Given the description of an element on the screen output the (x, y) to click on. 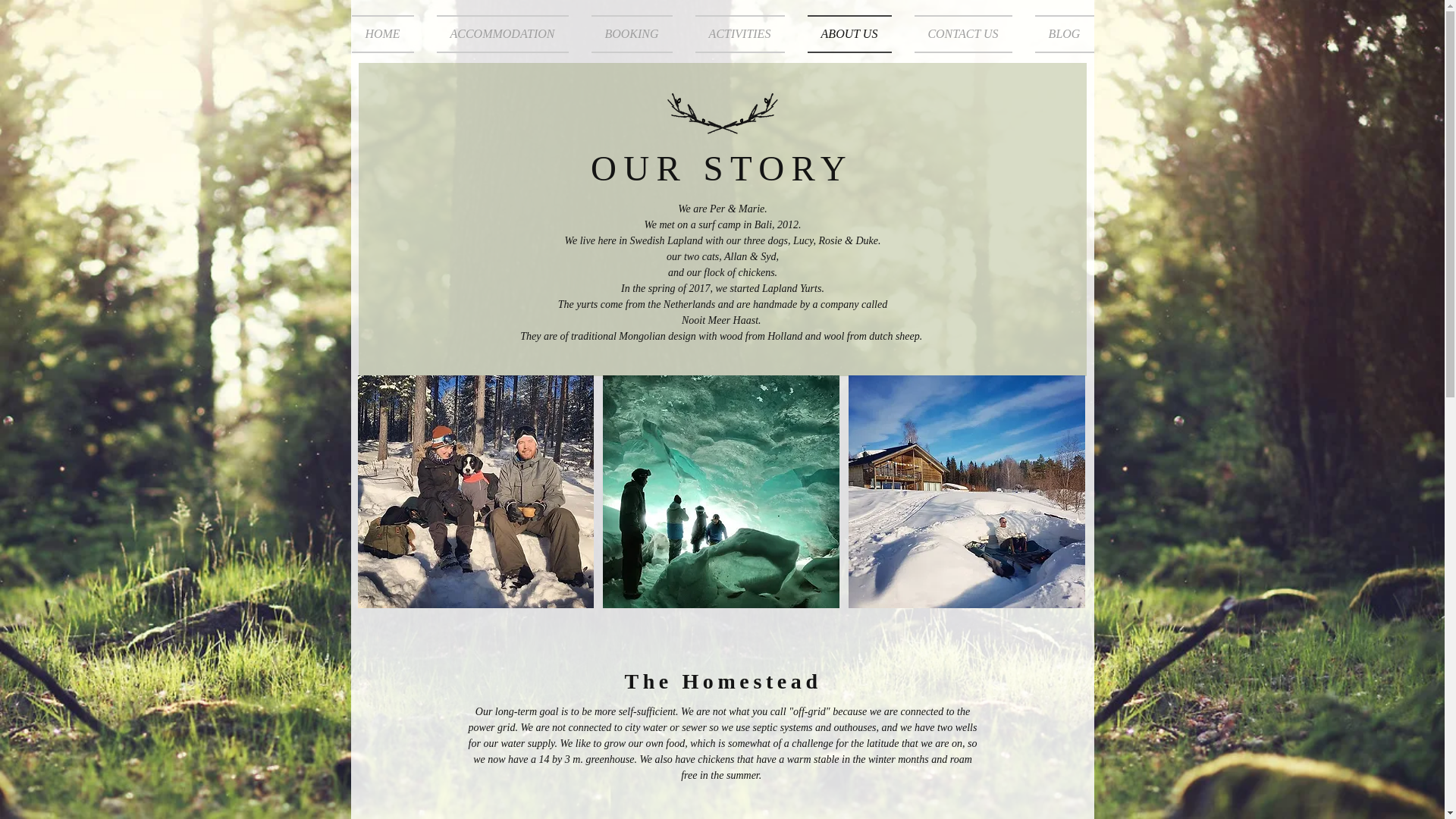
ACCOMMODATION (502, 34)
BLOG (1058, 34)
CONTACT US (962, 34)
ACTIVITIES (740, 34)
HOME (388, 34)
ABOUT US (849, 34)
BOOKING (630, 34)
